Given the description of an element on the screen output the (x, y) to click on. 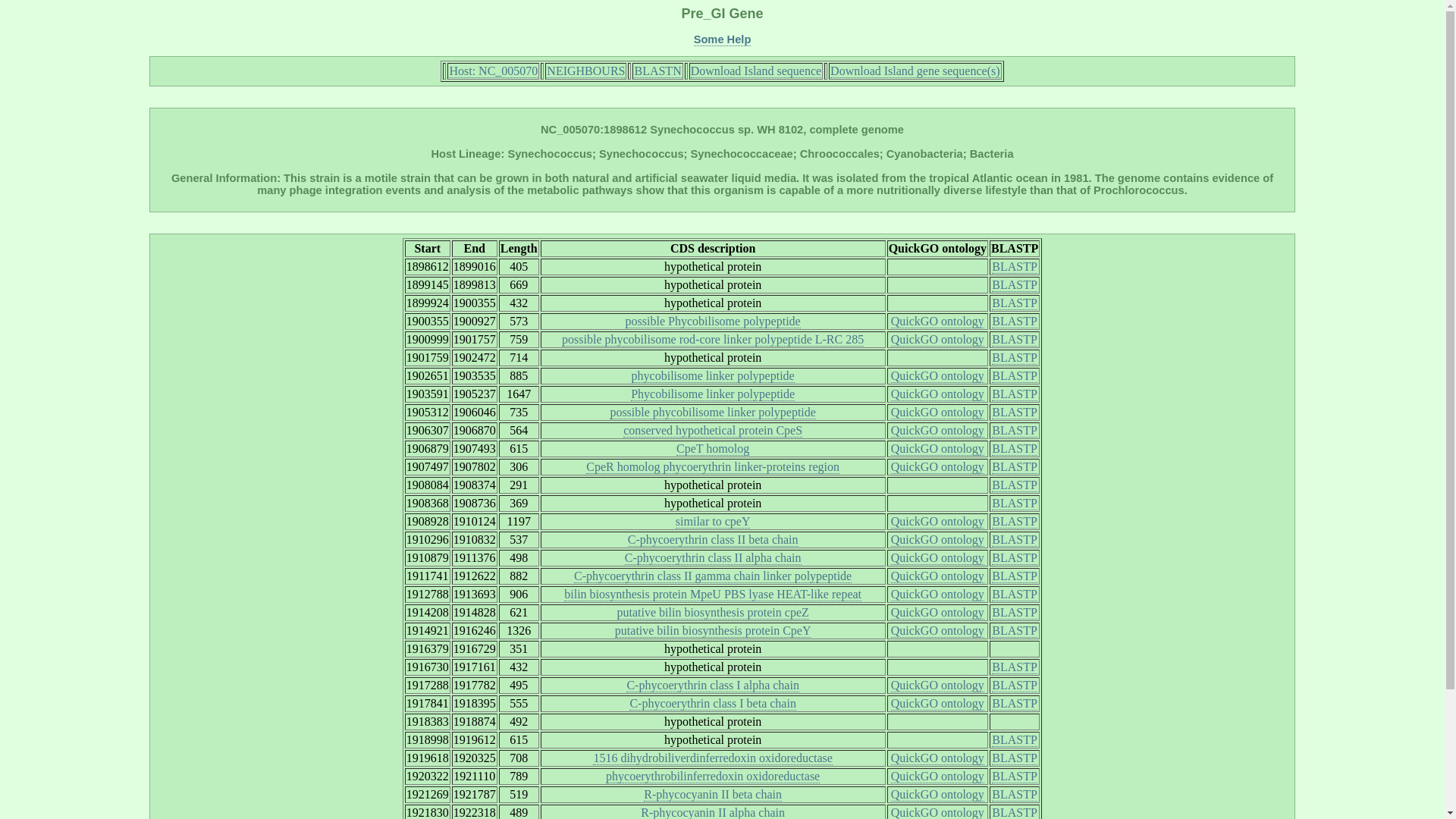
phycobilisome linker polypeptide (712, 376)
BLASTP (1013, 448)
Some help regarding this page (722, 39)
BLASTN (657, 70)
Display BLASTP hits for this cds (1013, 376)
Search database for similar gene annotations (712, 339)
BLASTP (1013, 376)
Search database for similar gene annotations (713, 321)
Retrieve QuickGO gene ontology (937, 376)
QuickGO ontology (937, 467)
NEIGHBOURS (585, 70)
Display BLASTP hits for this cds (1013, 339)
Download this Island gene sequences (913, 70)
conserved hypothetical protein CpeS (712, 430)
BLASTP (1013, 266)
